Given the description of an element on the screen output the (x, y) to click on. 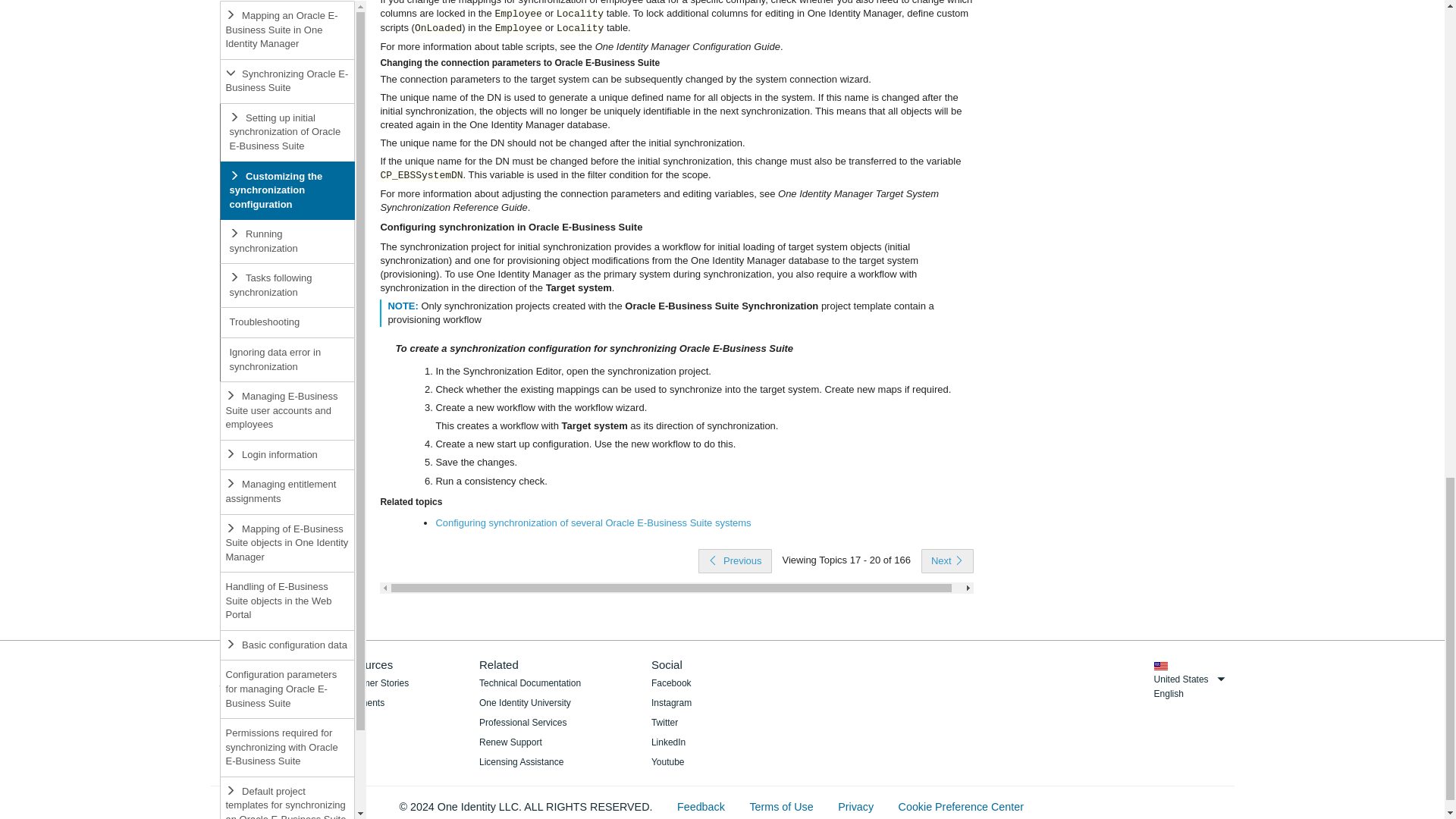
United States web site version is selected (1160, 665)
